Given the description of an element on the screen output the (x, y) to click on. 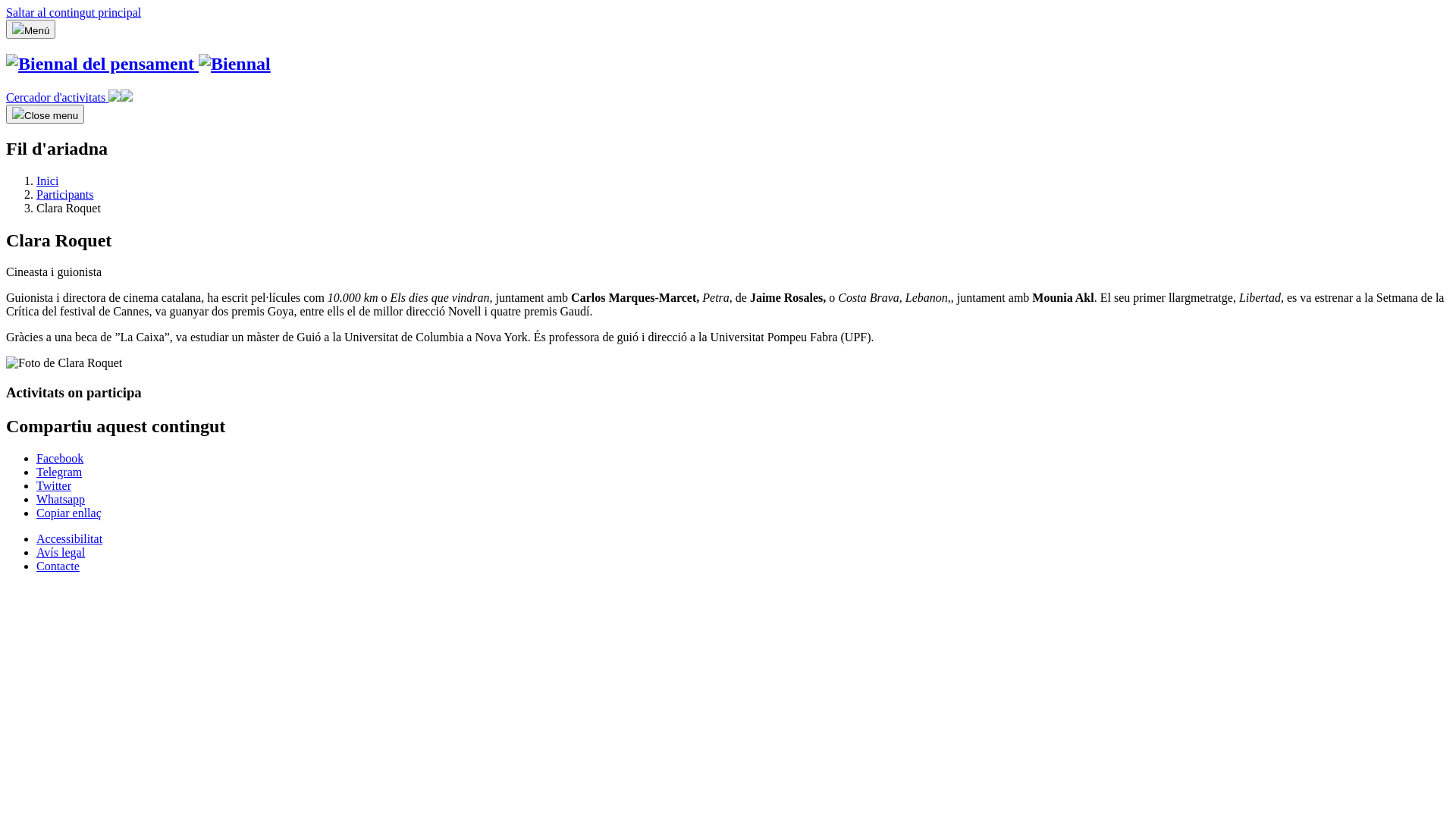
Close menu Element type: text (45, 113)
Contacte Element type: text (57, 565)
Whatsapp Element type: text (60, 498)
Accessibilitat Element type: text (69, 538)
Facebook Element type: text (59, 457)
Cercador d'activitats Element type: text (69, 97)
Twitter Element type: text (53, 485)
Saltar al contingut principal Element type: text (73, 12)
Inici Element type: text (47, 180)
Participants Element type: text (65, 194)
Telegram Element type: text (58, 471)
